Given the description of an element on the screen output the (x, y) to click on. 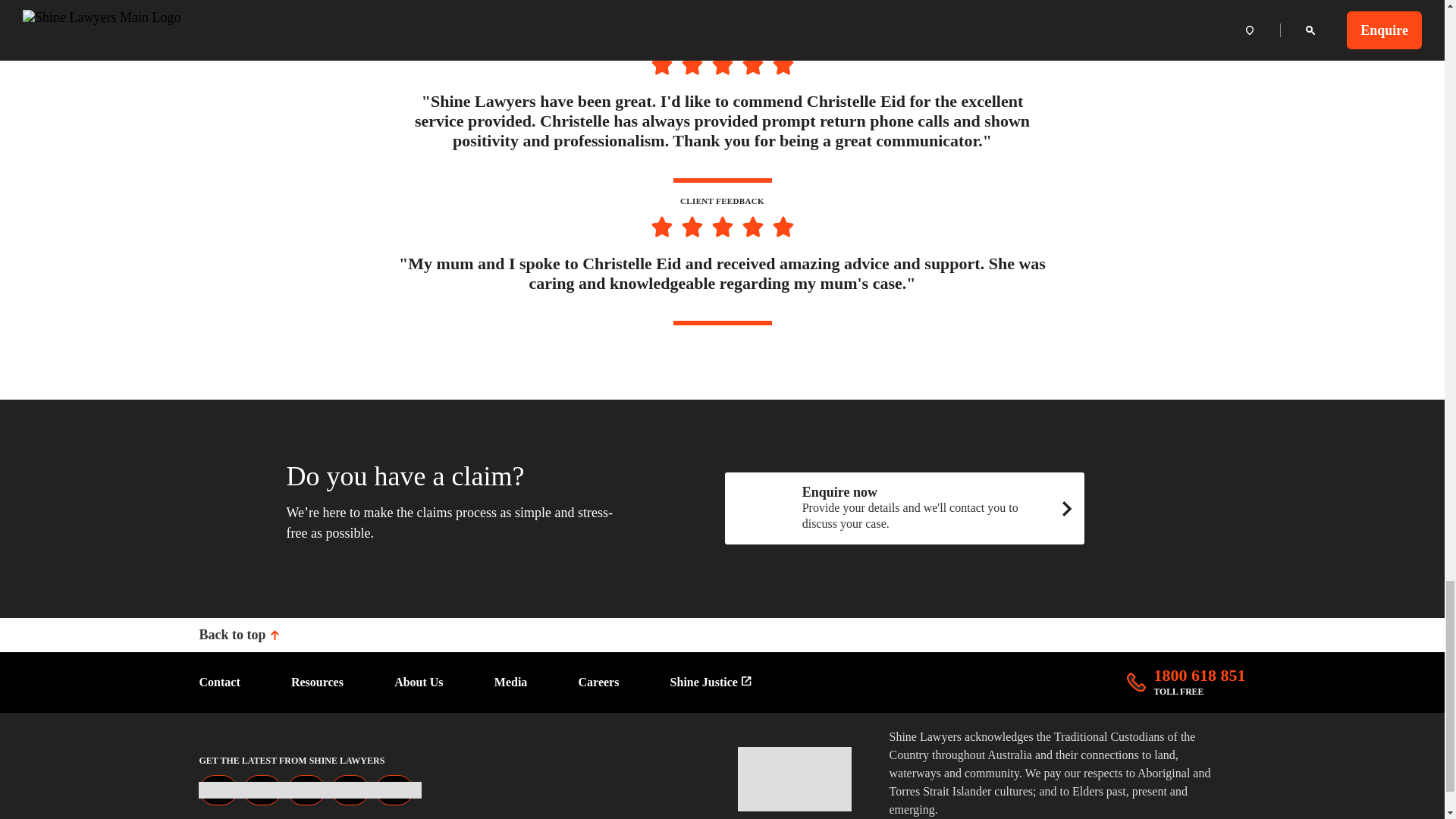
About Us (418, 681)
Media (511, 681)
Contact (219, 681)
Careers (599, 681)
Resources (1185, 681)
